Given the description of an element on the screen output the (x, y) to click on. 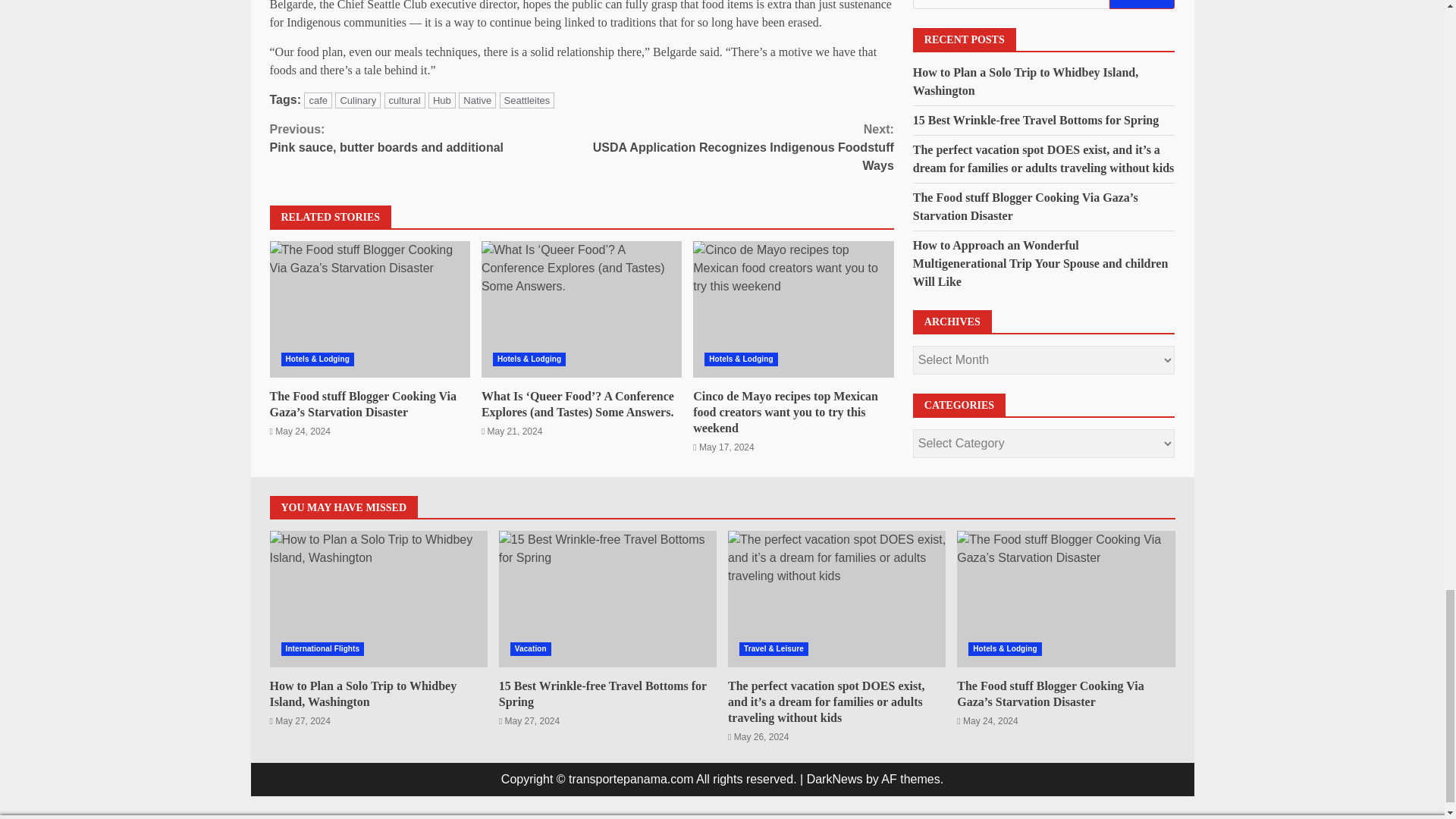
Hub (441, 100)
Native (477, 100)
cultural (404, 100)
How to Plan a Solo Trip to Whidbey Island, Washington (425, 138)
cafe (378, 598)
15 Best Wrinkle-free Travel Bottoms for Spring (317, 100)
Culinary (607, 598)
Seattleites (357, 100)
